Given the description of an element on the screen output the (x, y) to click on. 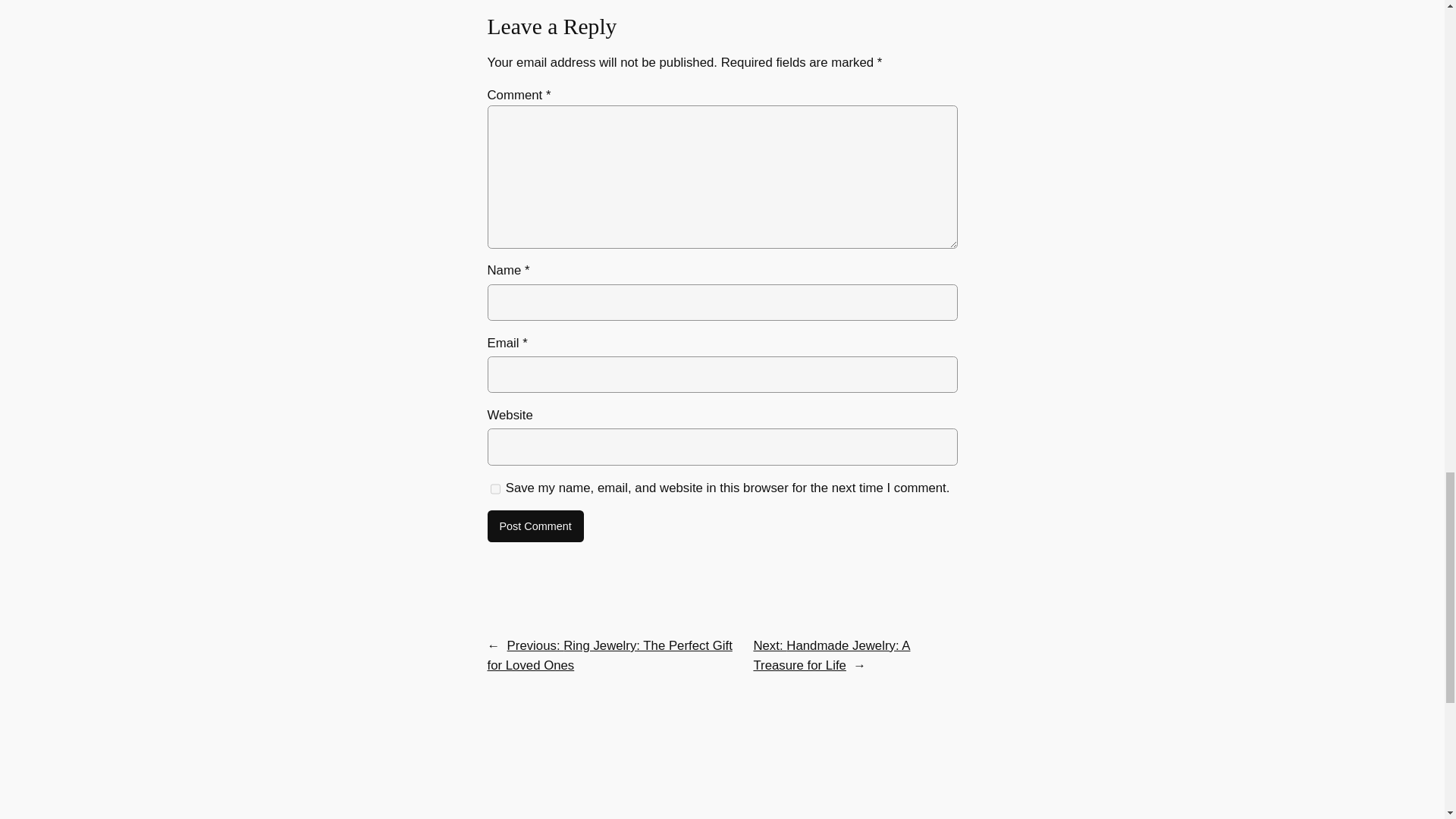
Next: Handmade Jewelry: A Treasure for Life (831, 655)
Previous: Ring Jewelry: The Perfect Gift for Loved Ones (609, 655)
Post Comment (534, 526)
Post Comment (534, 526)
